Given the description of an element on the screen output the (x, y) to click on. 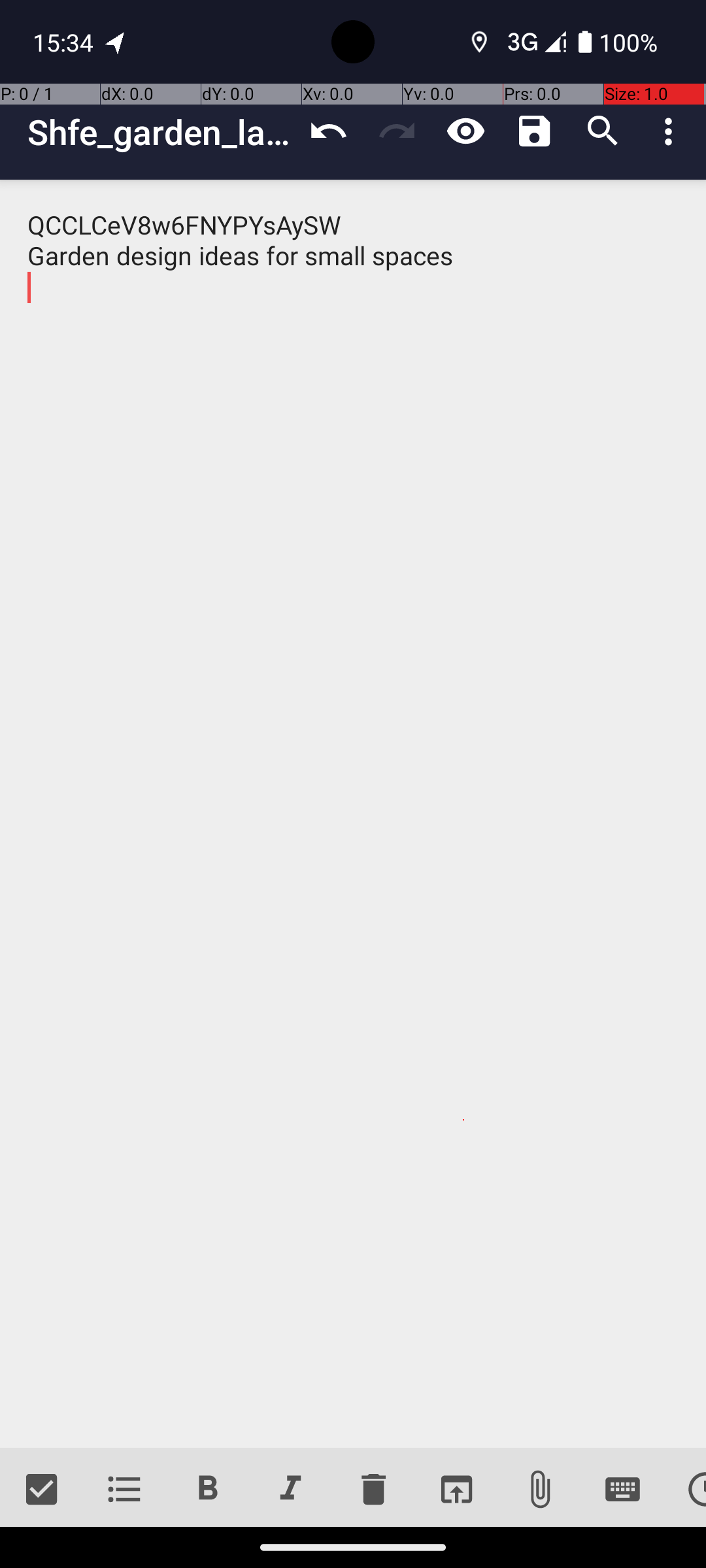
Shfe_garden_layout_plan Element type: android.widget.TextView (160, 131)
QCCLCeV8w6FNYPYsAySW
Garden design ideas for small spaces
 Element type: android.widget.EditText (353, 813)
